Given the description of an element on the screen output the (x, y) to click on. 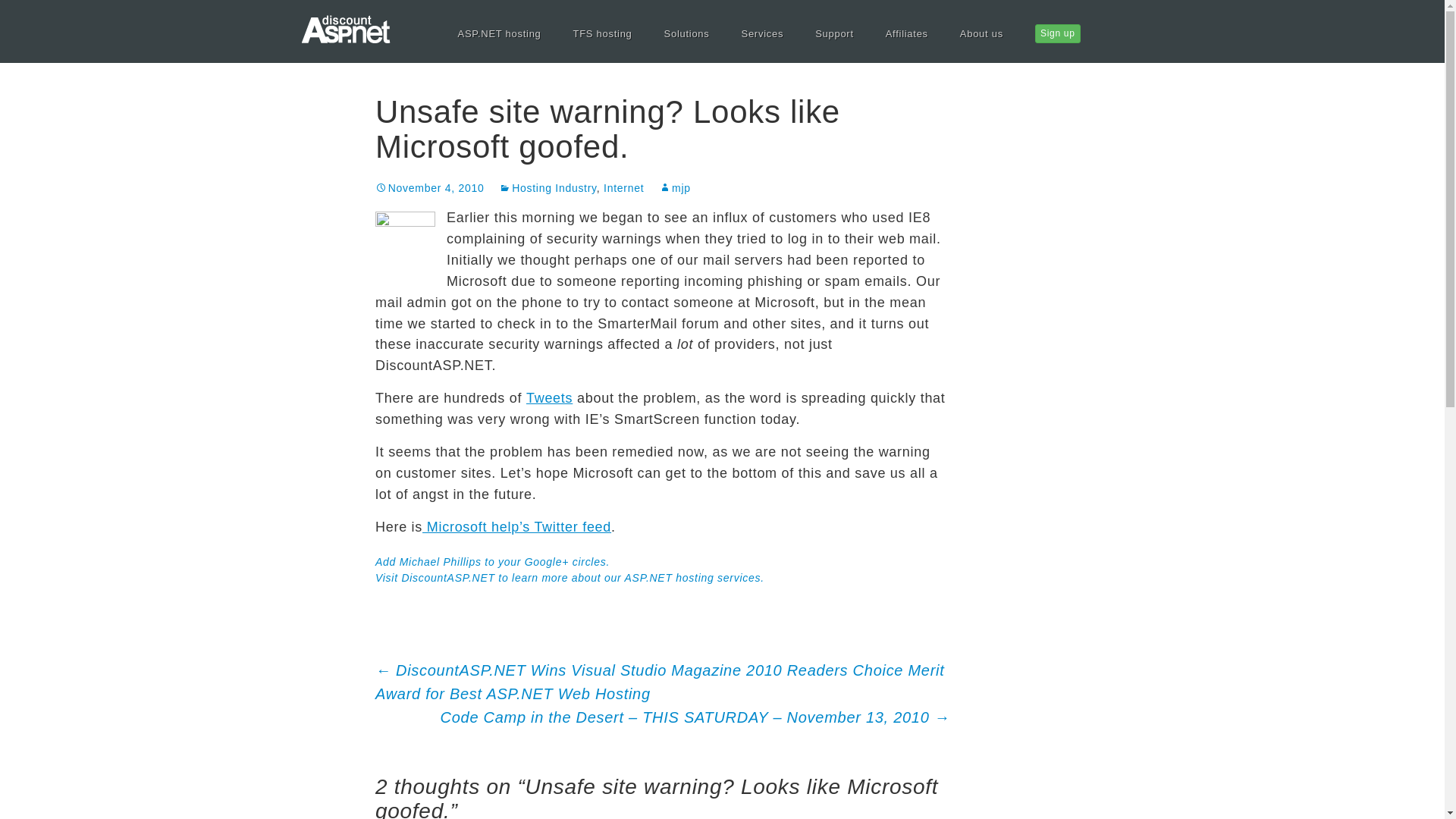
ASP.NET hosting (499, 33)
Solutions (687, 33)
TFS hosting (602, 33)
View all posts by mjp (674, 187)
